Given the description of an element on the screen output the (x, y) to click on. 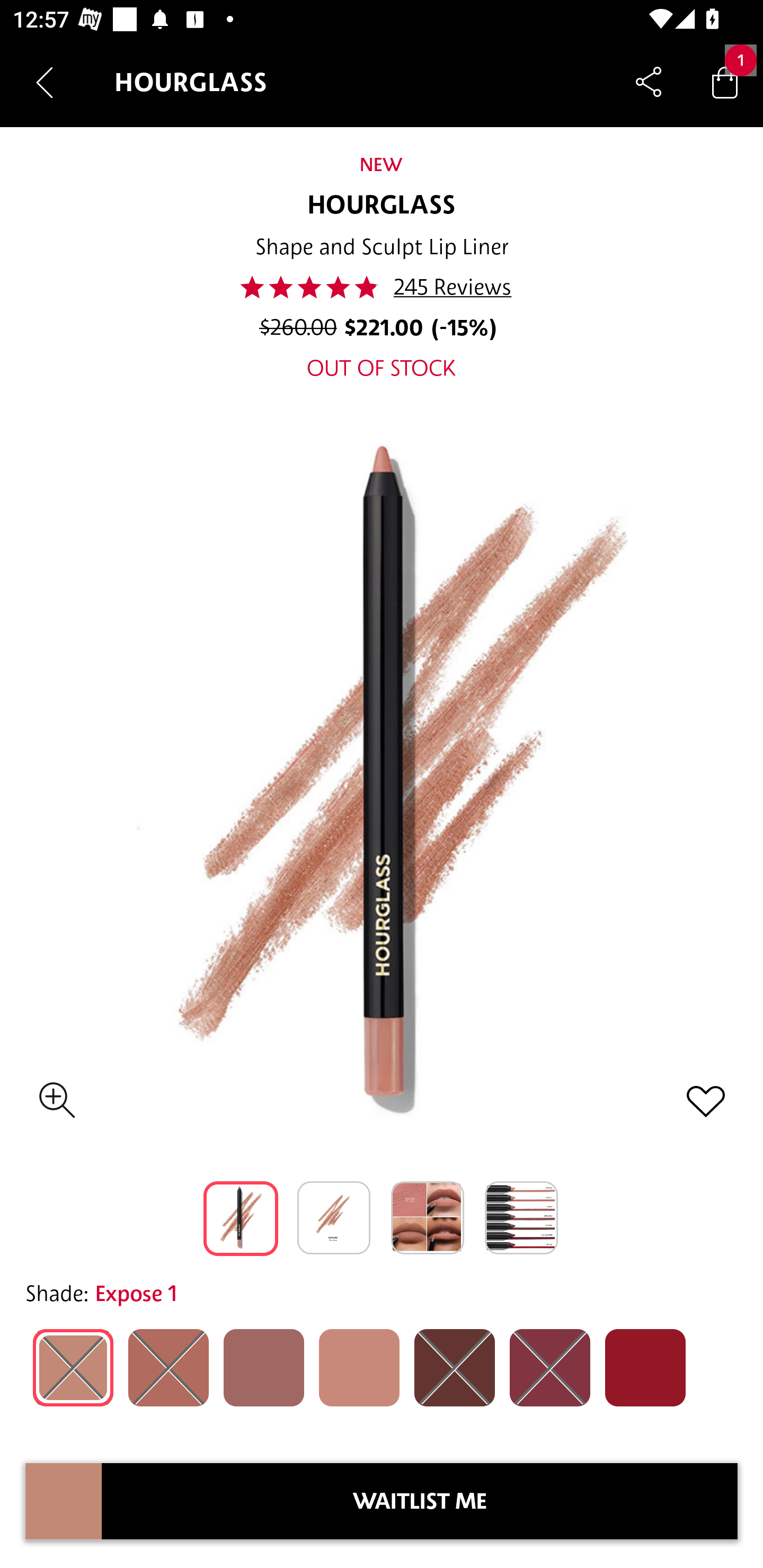
Navigate up (44, 82)
Share (648, 81)
Bag (724, 81)
HOURGLASS (381, 205)
48.0 245 Reviews (381, 286)
WAITLIST ME (419, 1500)
